Given the description of an element on the screen output the (x, y) to click on. 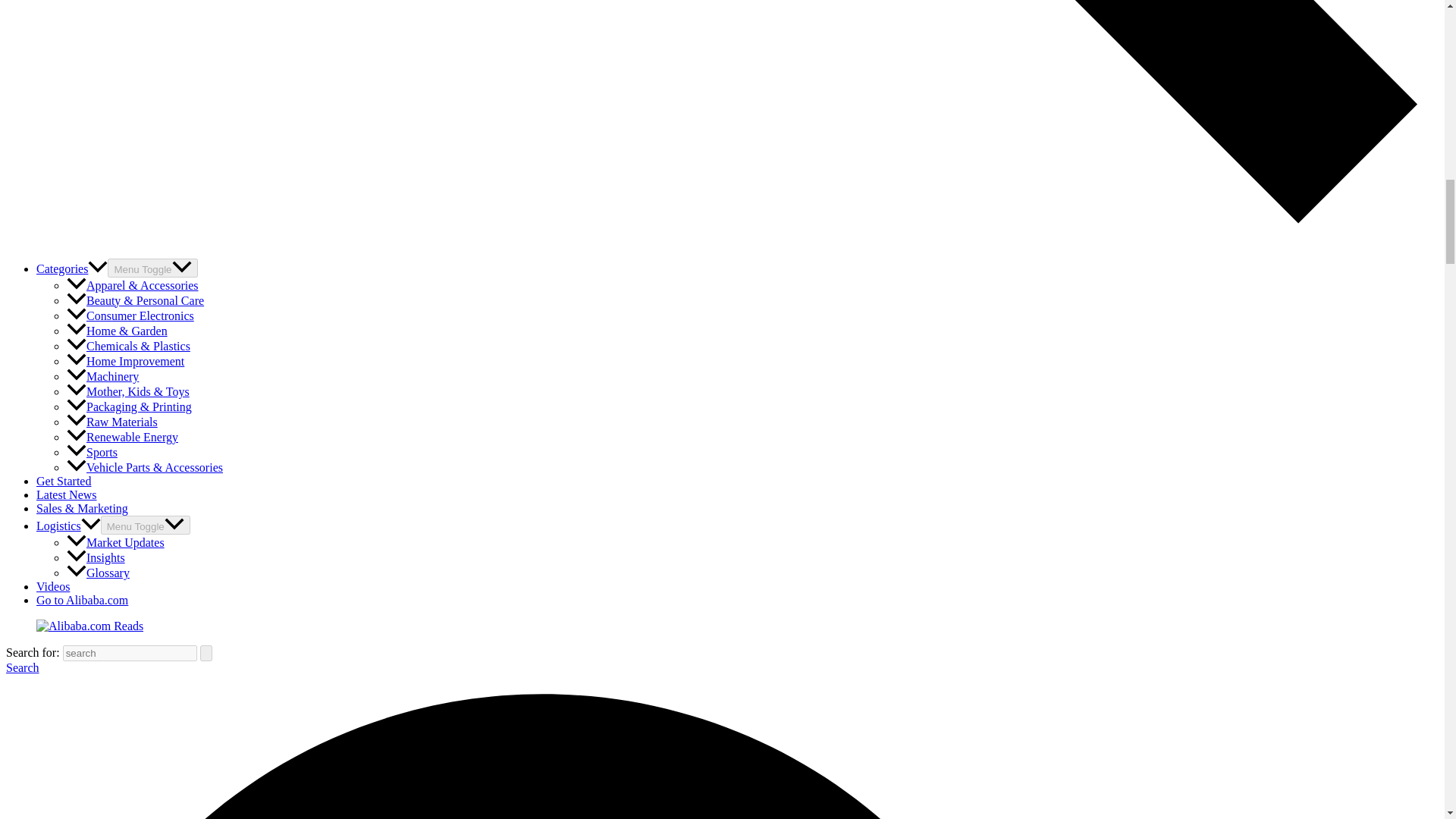
Categories (71, 268)
Machinery (102, 376)
Consumer Electronics (129, 315)
Home Improvement (125, 360)
Menu Toggle (151, 267)
